Given the description of an element on the screen output the (x, y) to click on. 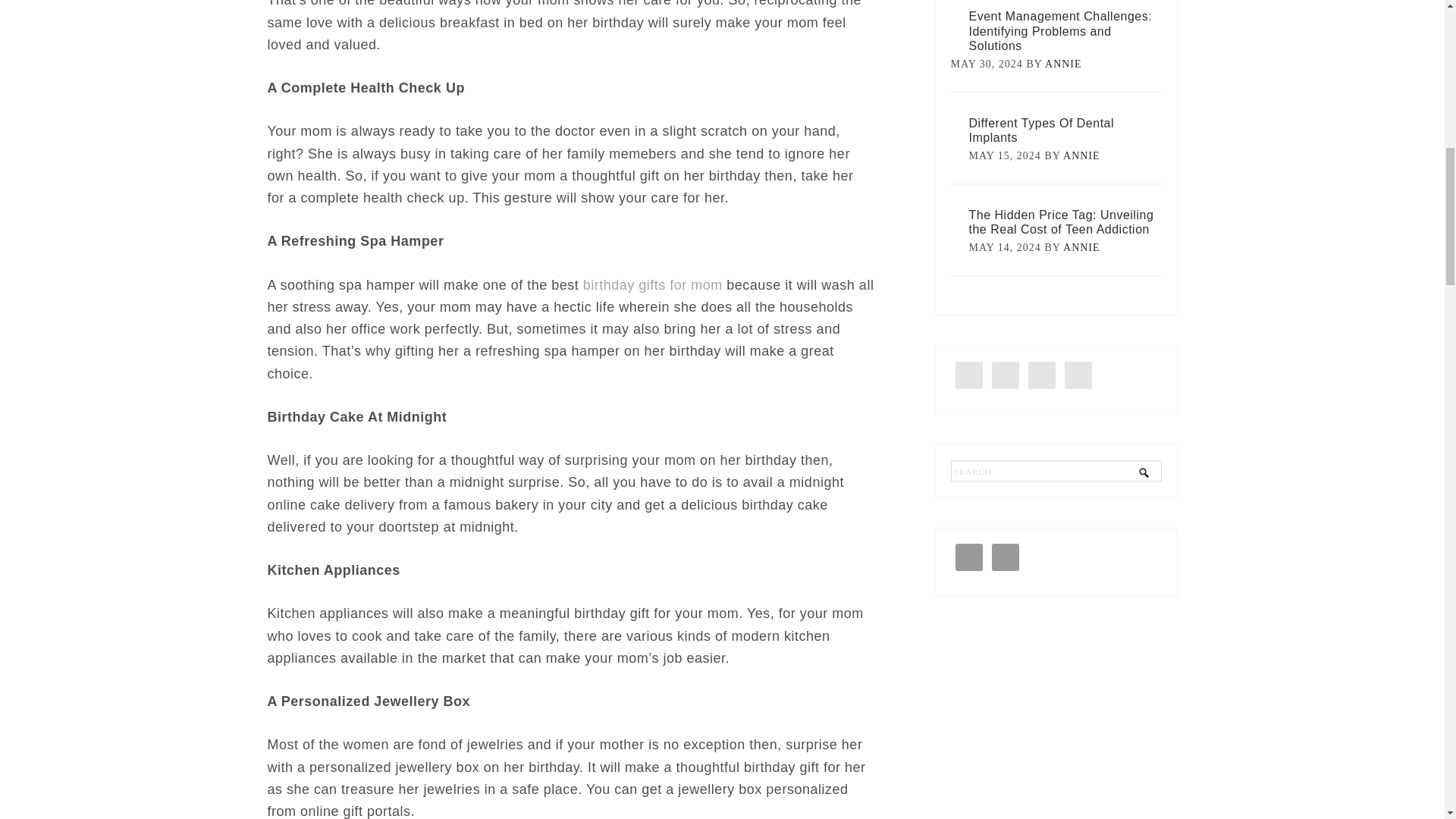
Different Types Of Dental Implants (1042, 130)
birthday gifts for mom (652, 284)
ANNIE (1063, 63)
ANNIE (1081, 247)
ANNIE (1081, 155)
